Given the description of an element on the screen output the (x, y) to click on. 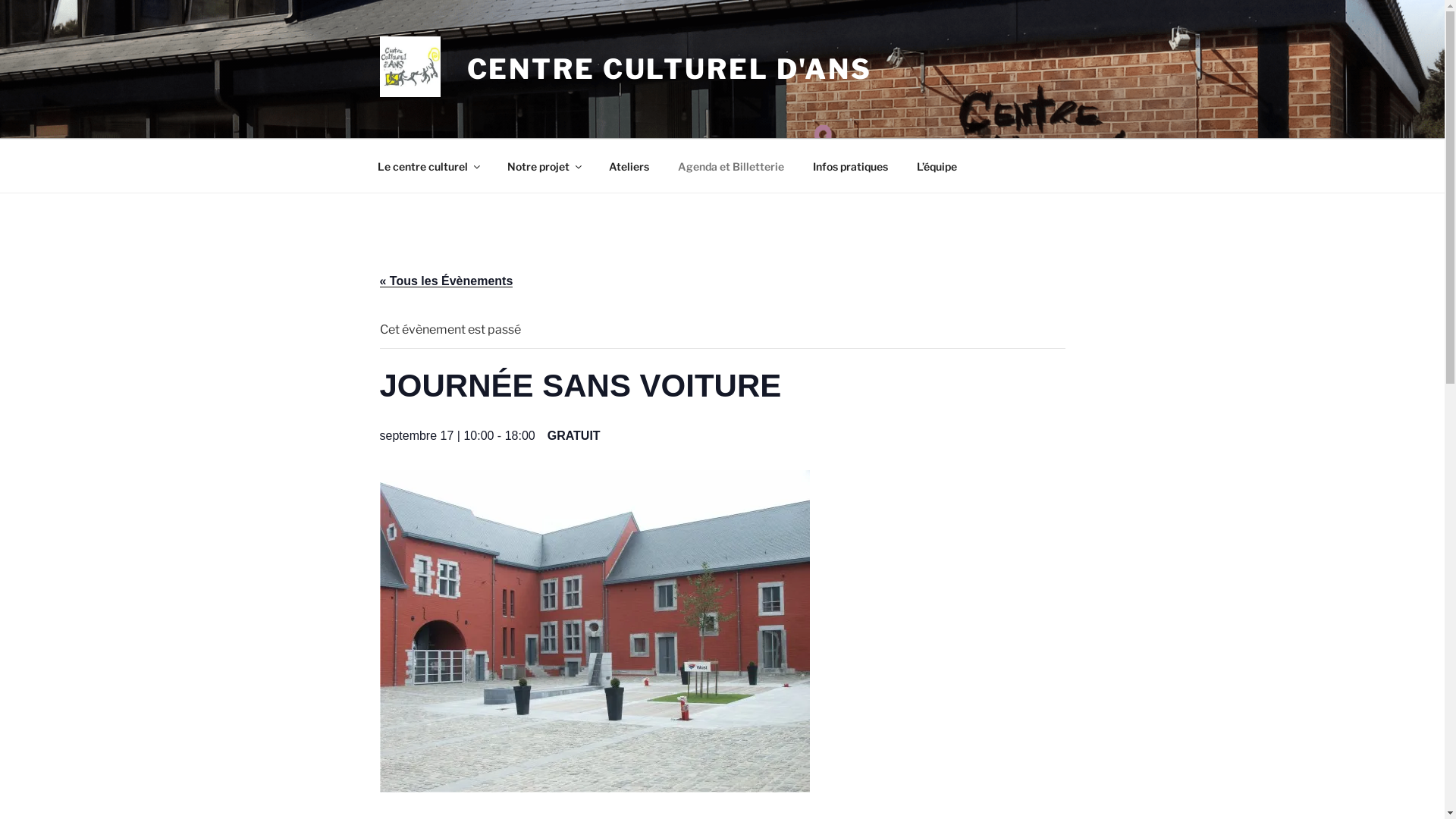
CENTRE CULTUREL D'ANS Element type: text (669, 68)
Le centre culturel Element type: text (427, 165)
Notre projet Element type: text (543, 165)
Agenda et Billetterie Element type: text (730, 165)
Infos pratiques Element type: text (849, 165)
Ateliers Element type: text (629, 165)
